Given the description of an element on the screen output the (x, y) to click on. 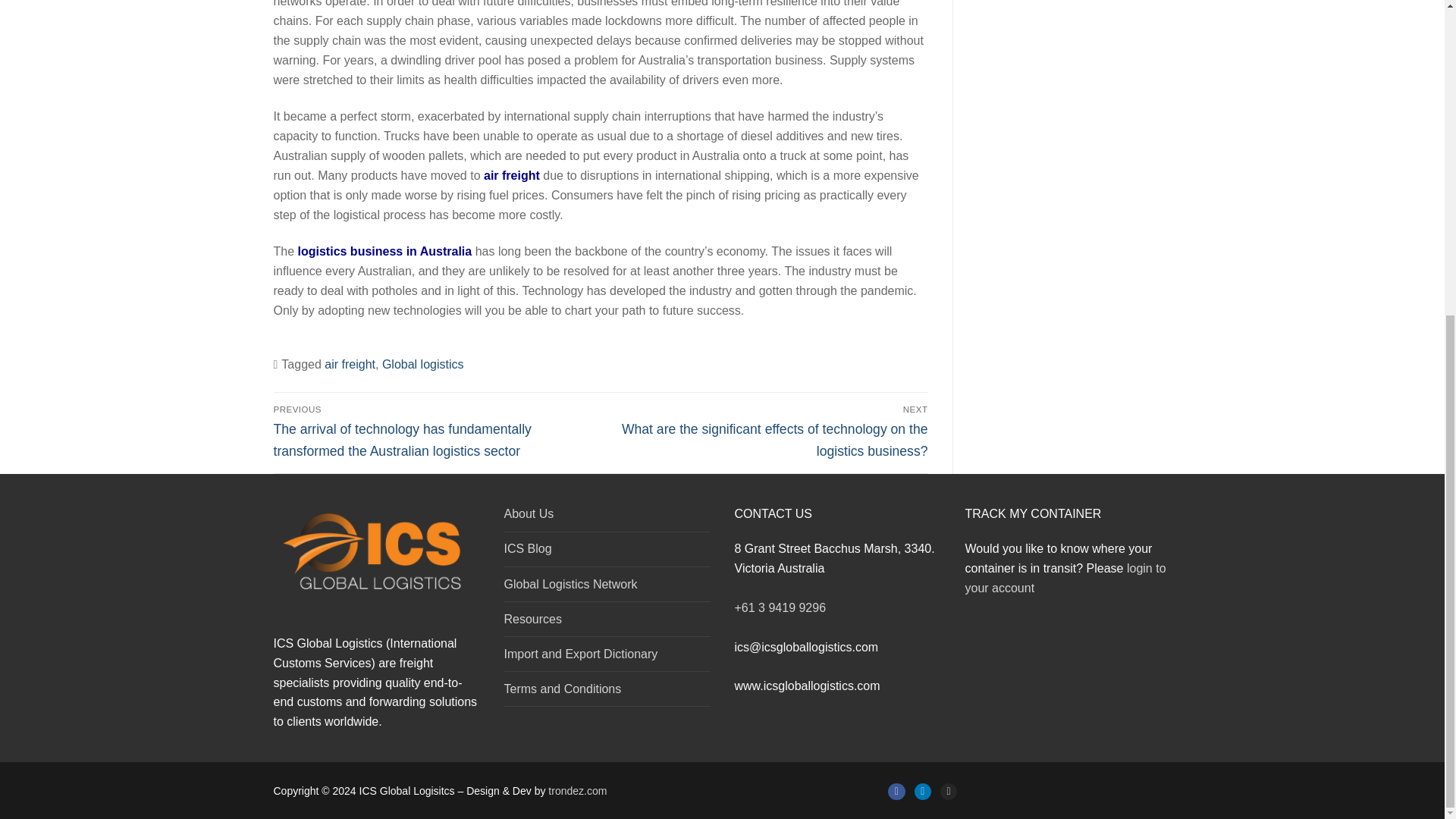
About Us (606, 517)
Global Logistics Network (606, 587)
logistics business in Australia (384, 250)
Global logistics (422, 364)
air freight  (513, 174)
Facebook (896, 791)
ICS Blog (606, 552)
LinkedIn (922, 791)
Instagram (948, 791)
air freight (349, 364)
